Given the description of an element on the screen output the (x, y) to click on. 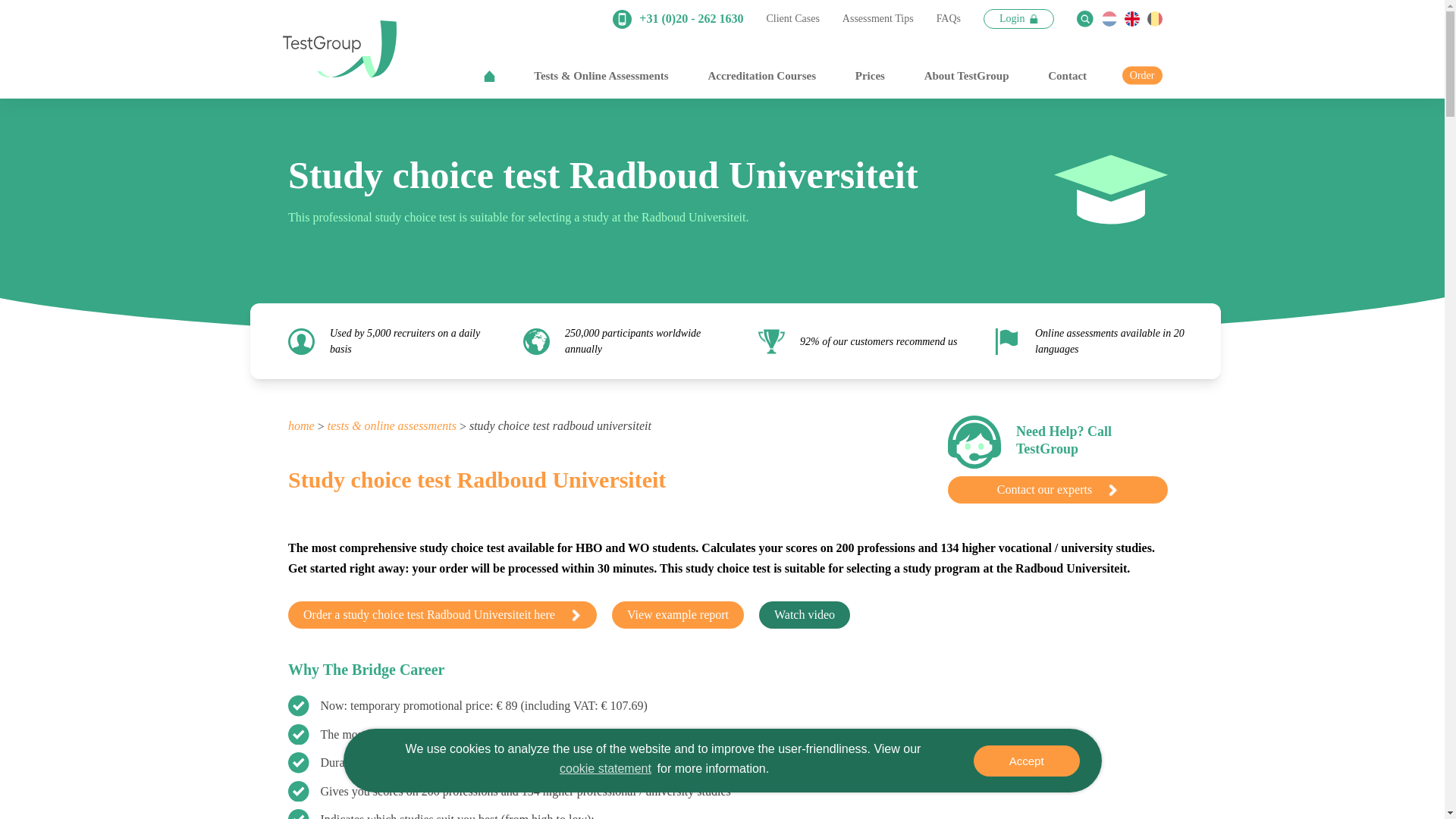
cookie statement (605, 769)
Assessment Tips (878, 18)
Login (1019, 18)
Client Cases (791, 18)
Accept (1027, 759)
TestGroup (339, 48)
FAQs (948, 18)
